Given the description of an element on the screen output the (x, y) to click on. 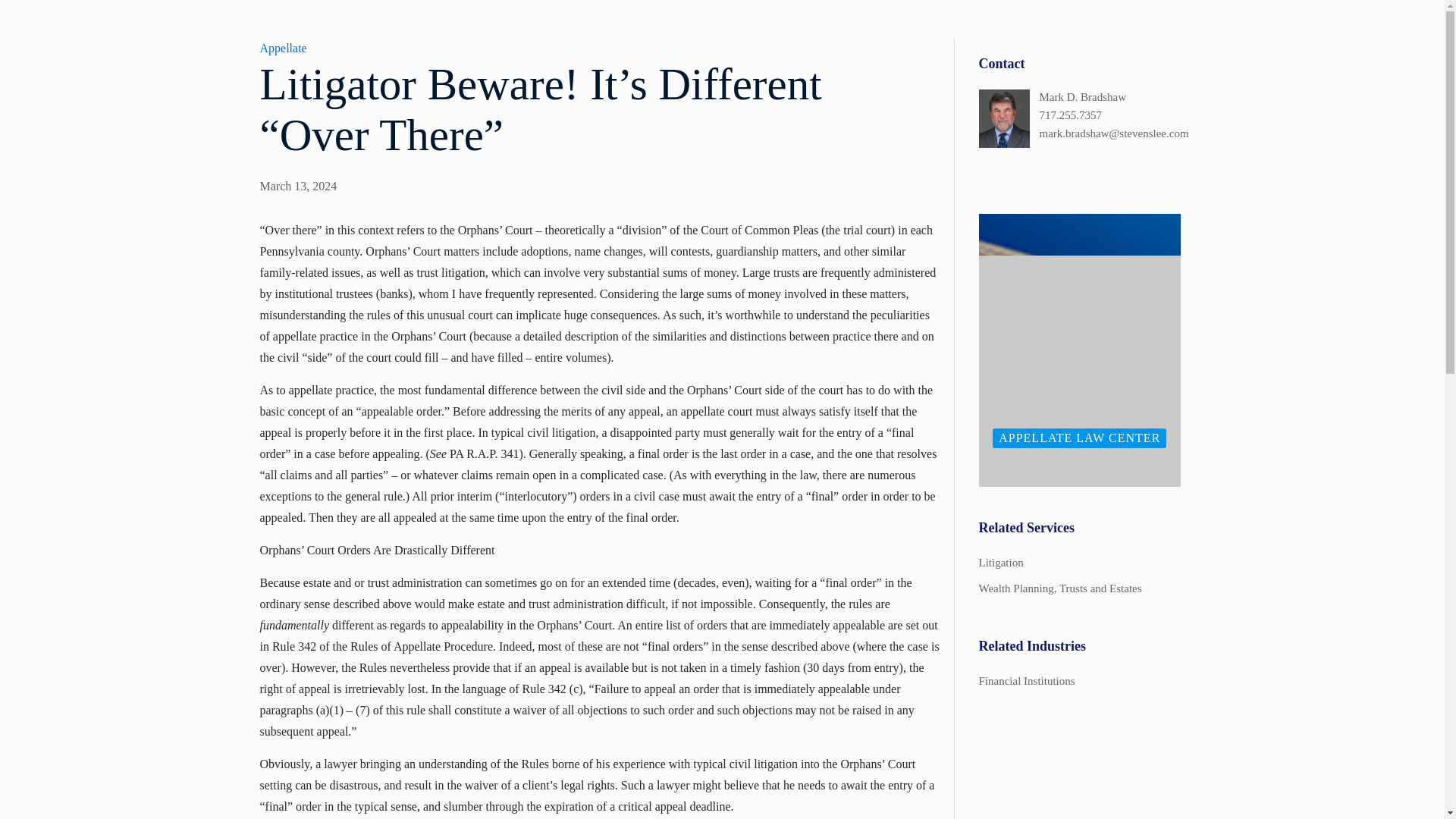
Mark D. Bradshaw (1109, 96)
Phone (1109, 115)
Financial Institutions (1079, 680)
Wealth Planning, Trusts and Estates (1079, 588)
Litigation (1079, 562)
